Given the description of an element on the screen output the (x, y) to click on. 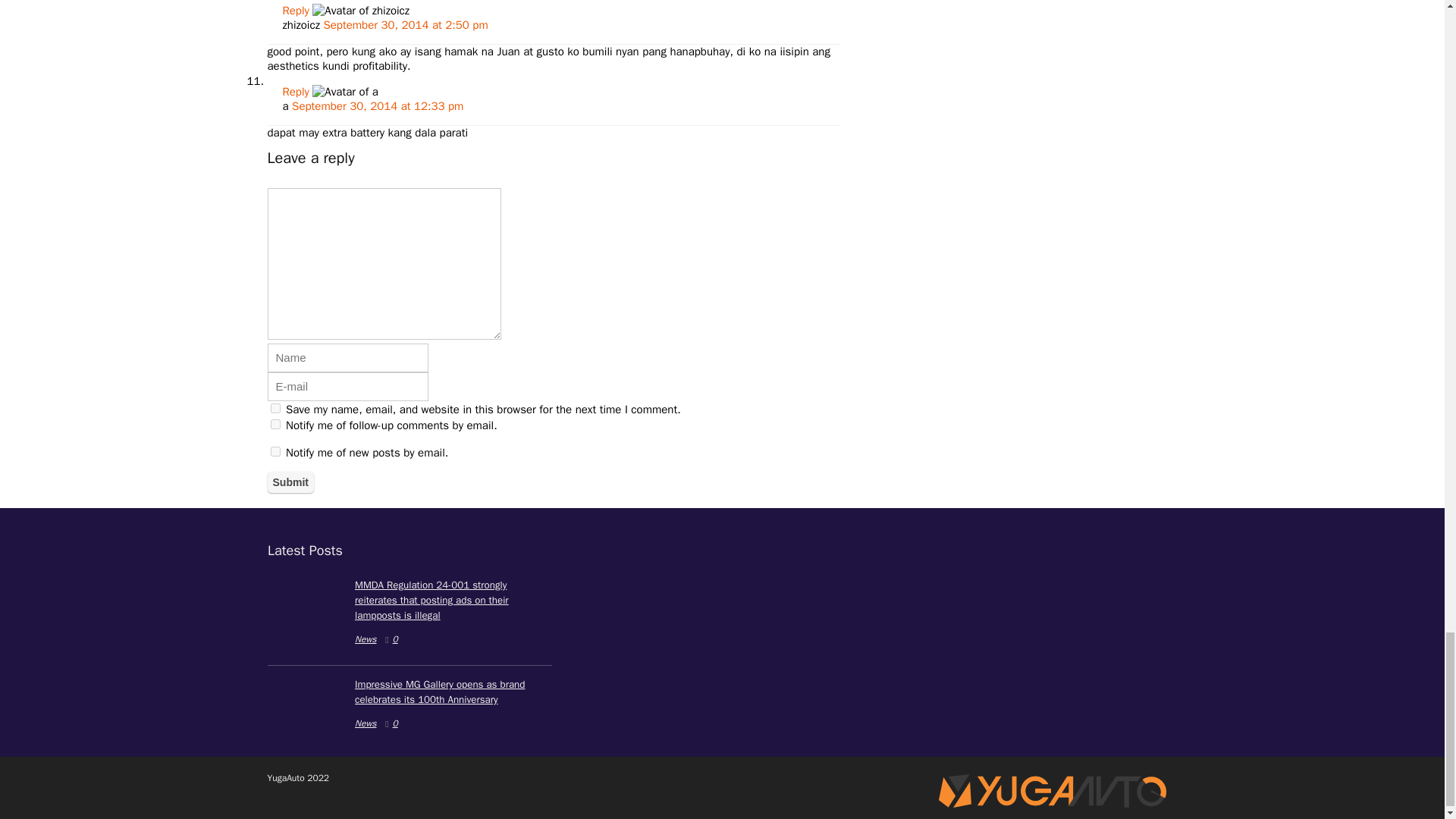
Submit (289, 482)
subscribe (274, 424)
yes (274, 408)
subscribe (274, 451)
